Given the description of an element on the screen output the (x, y) to click on. 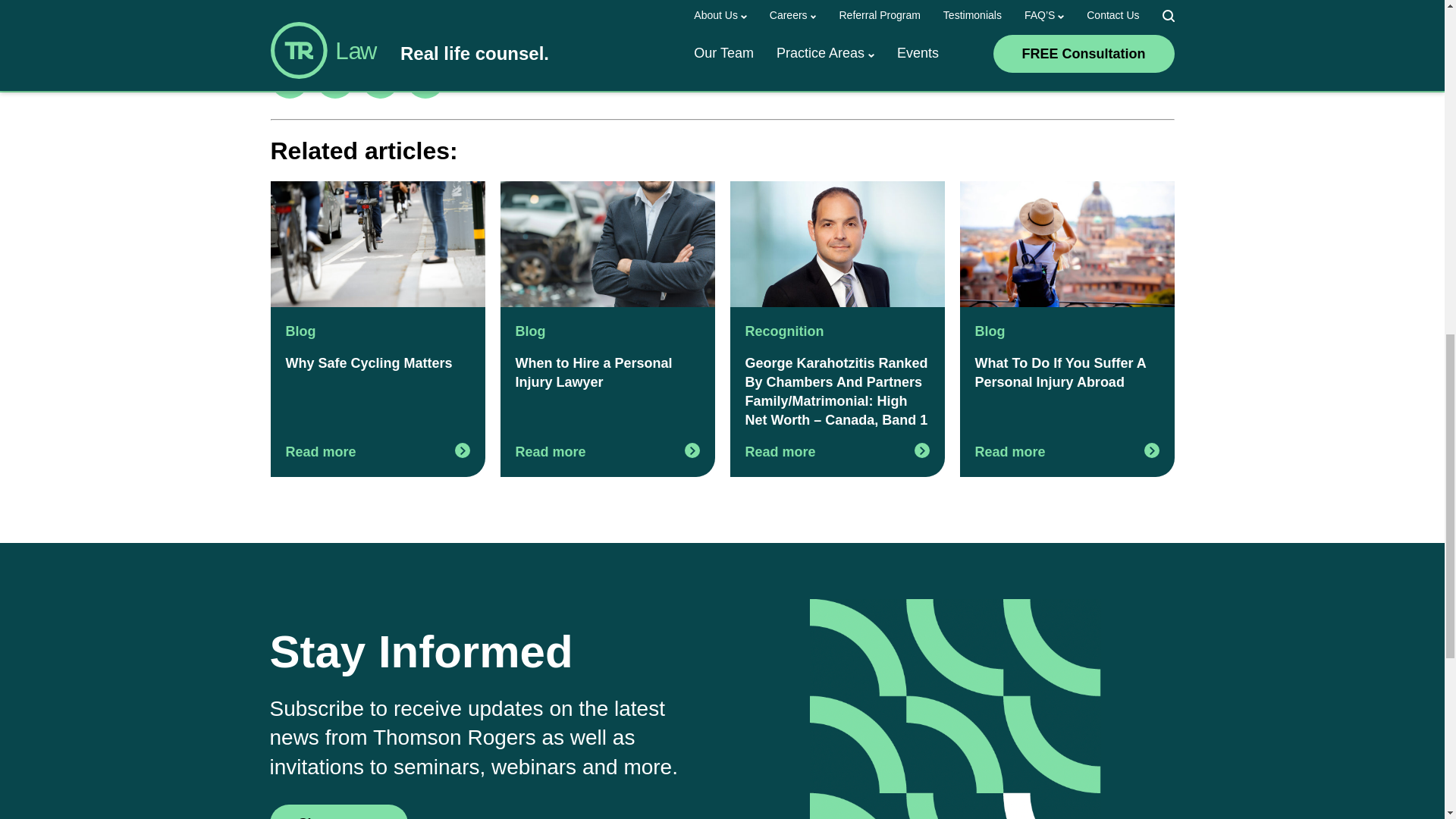
When to Hire a Personal Injury Lawyer (607, 243)
What To Do If You Suffer A Personal Injury Abroad (1066, 243)
Sign up now (339, 811)
Why Safe Cycling Matters (376, 243)
